Given the description of an element on the screen output the (x, y) to click on. 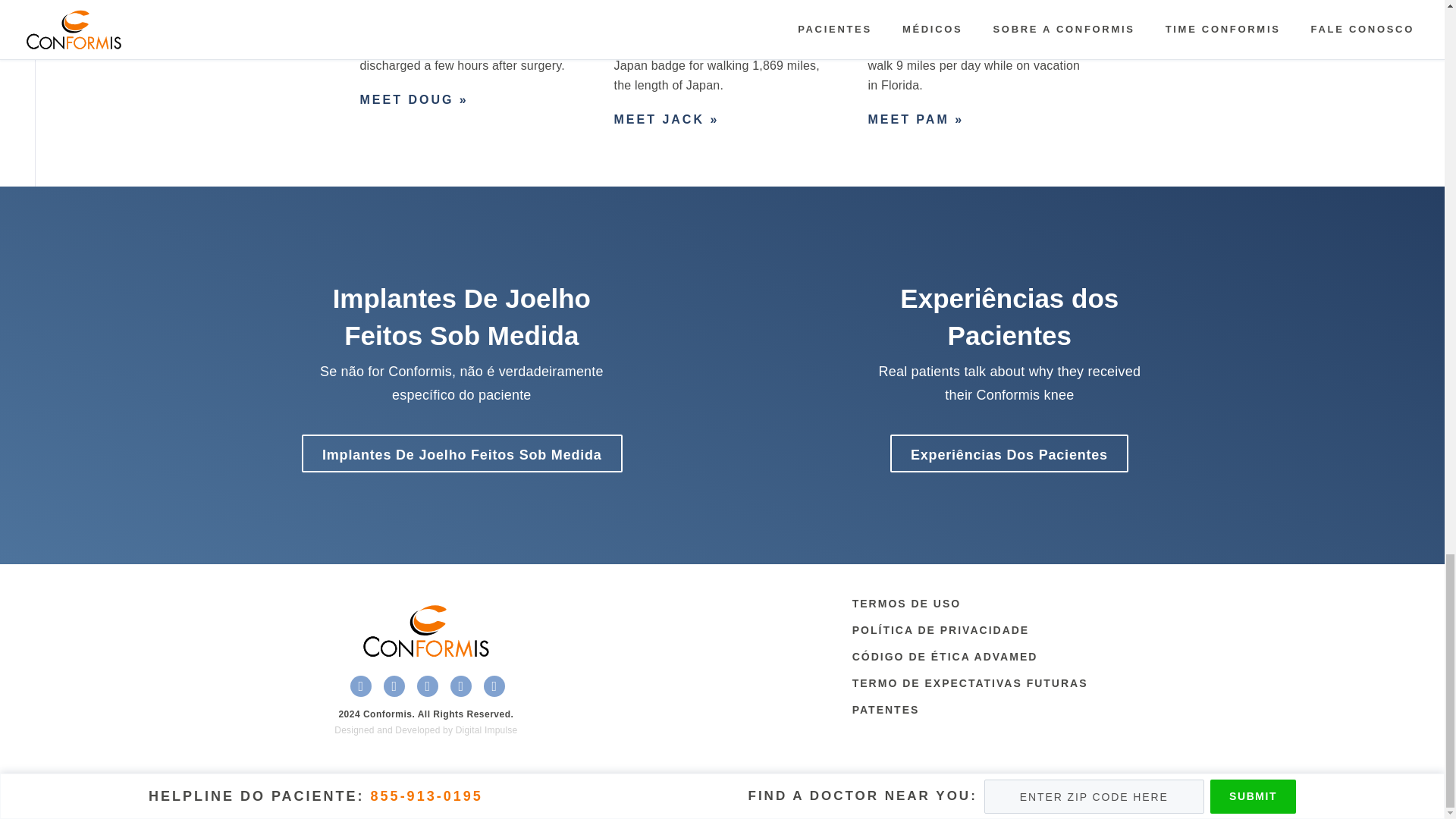
Facebook (360, 685)
Instagram (460, 685)
Twitter (394, 685)
LinkedIn (427, 685)
Youtube (494, 685)
